Given the description of an element on the screen output the (x, y) to click on. 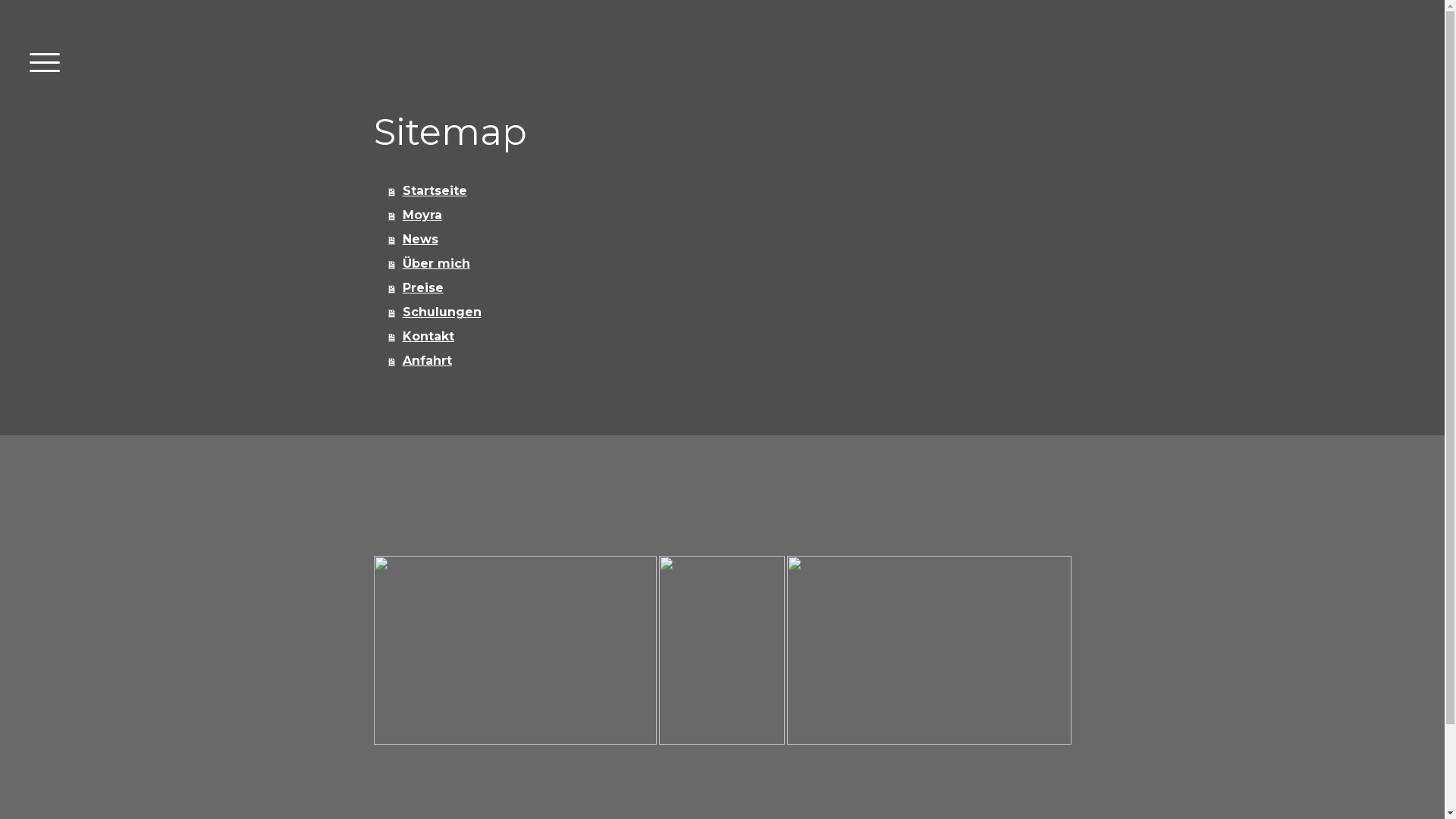
Startseite Element type: text (731, 190)
Kontakt Element type: text (731, 336)
Moyra Element type: text (731, 215)
News Element type: text (731, 239)
Preise Element type: text (731, 288)
Schulungen Element type: text (731, 312)
Anfahrt Element type: text (731, 360)
